Given the description of an element on the screen output the (x, y) to click on. 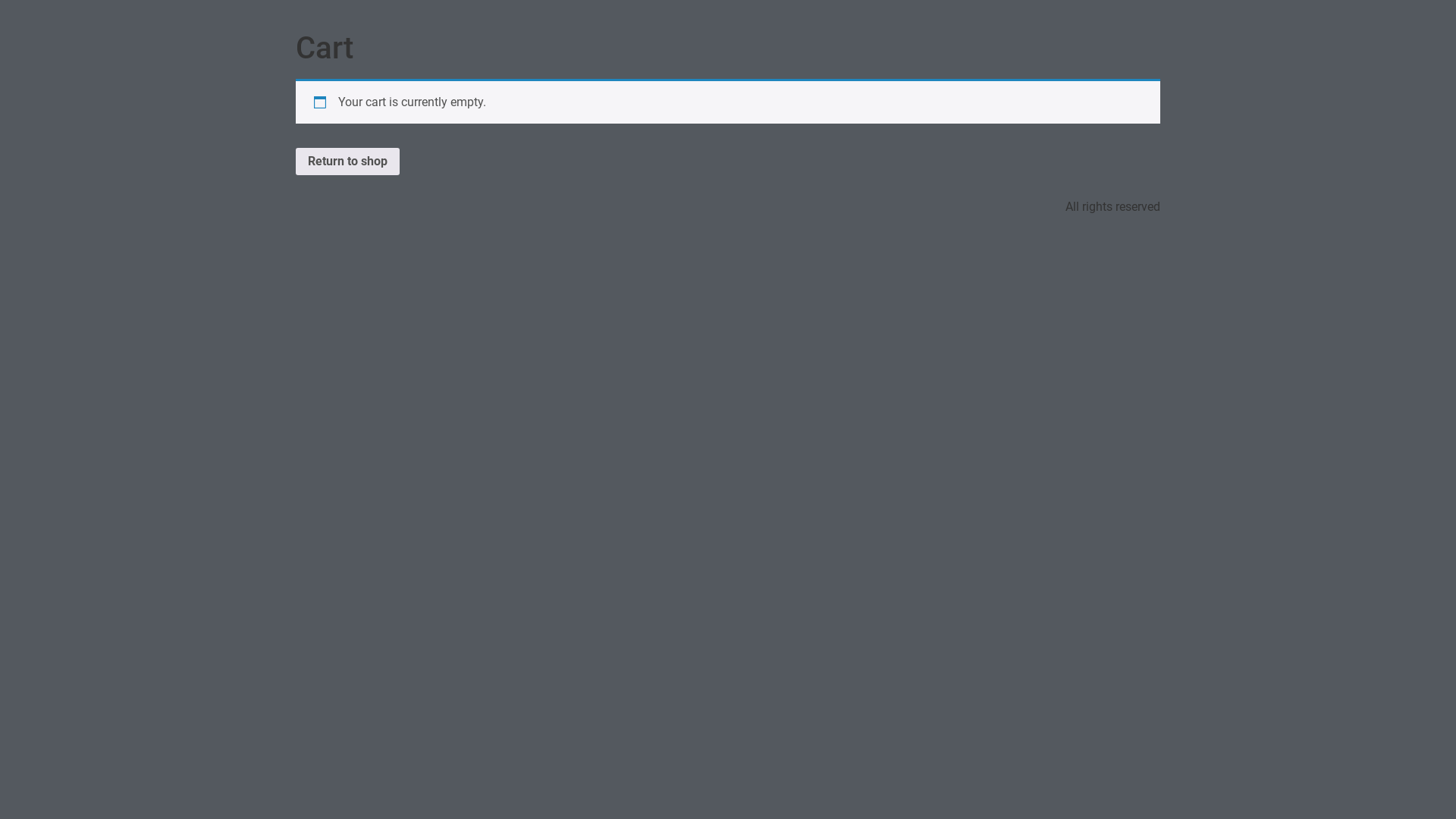
Return to shop Element type: text (347, 161)
